Given the description of an element on the screen output the (x, y) to click on. 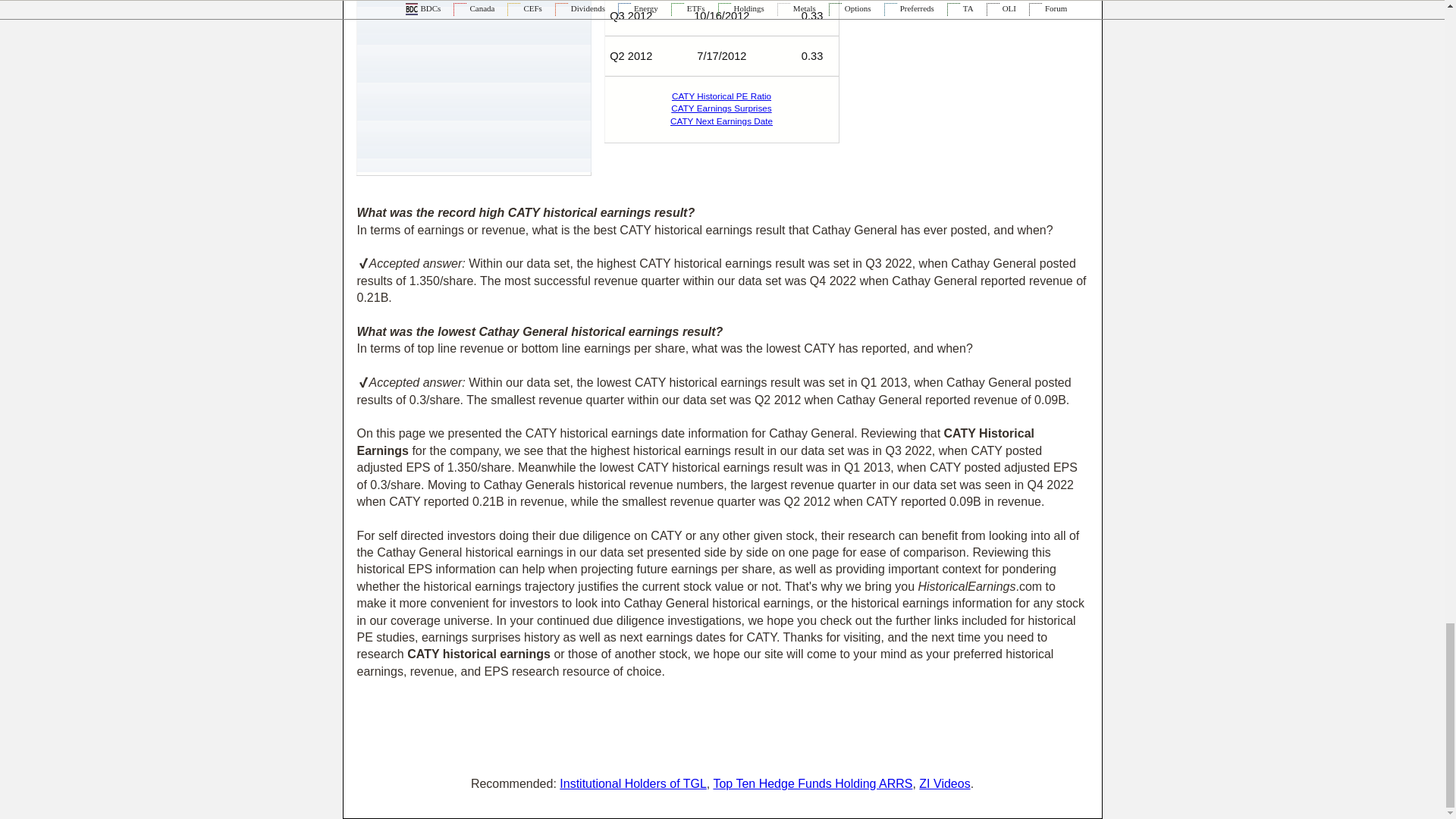
Institutional Holders of TGL (632, 783)
CATY Next Earnings Date (721, 121)
CATY Historical PE Ratio (721, 95)
Top Ten Hedge Funds Holding ARRS (812, 783)
ZI Videos (943, 783)
CATY Earnings Surprises (721, 108)
